Given the description of an element on the screen output the (x, y) to click on. 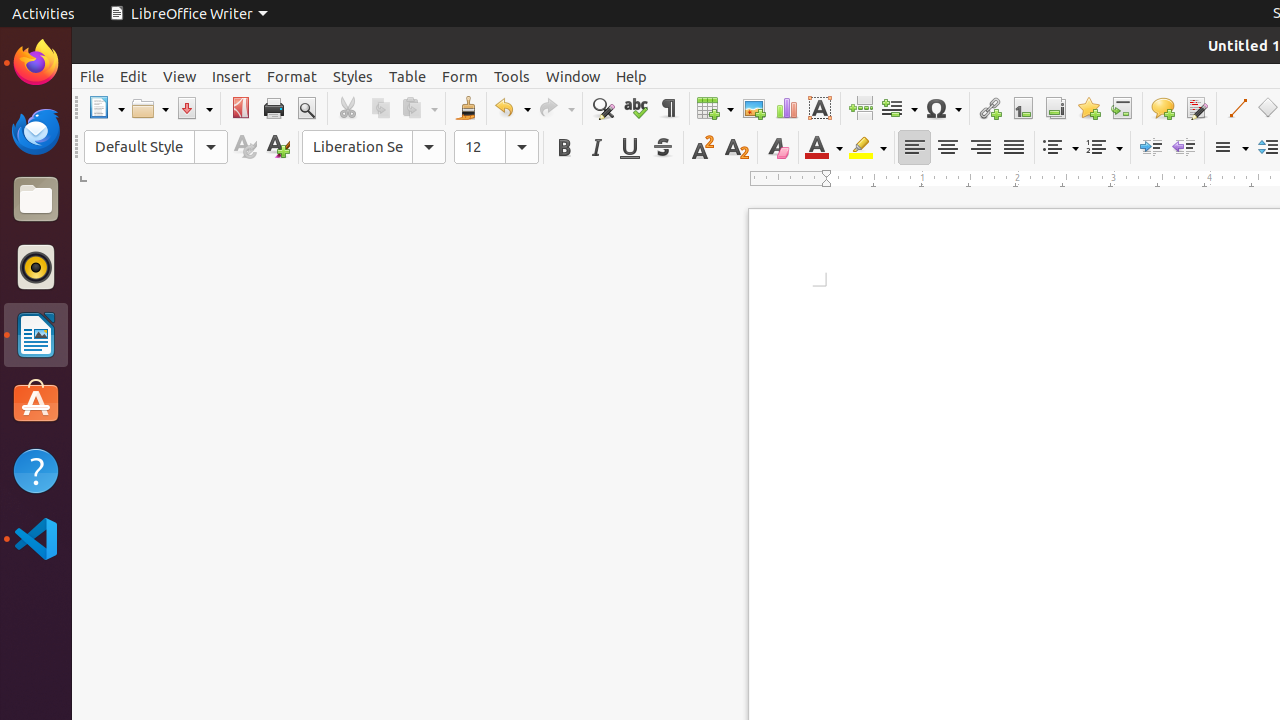
Help Element type: push-button (36, 470)
Rhythmbox Element type: push-button (36, 267)
Spelling Element type: push-button (635, 108)
Strikethrough Element type: toggle-button (662, 147)
Copy Element type: push-button (380, 108)
